Given the description of an element on the screen output the (x, y) to click on. 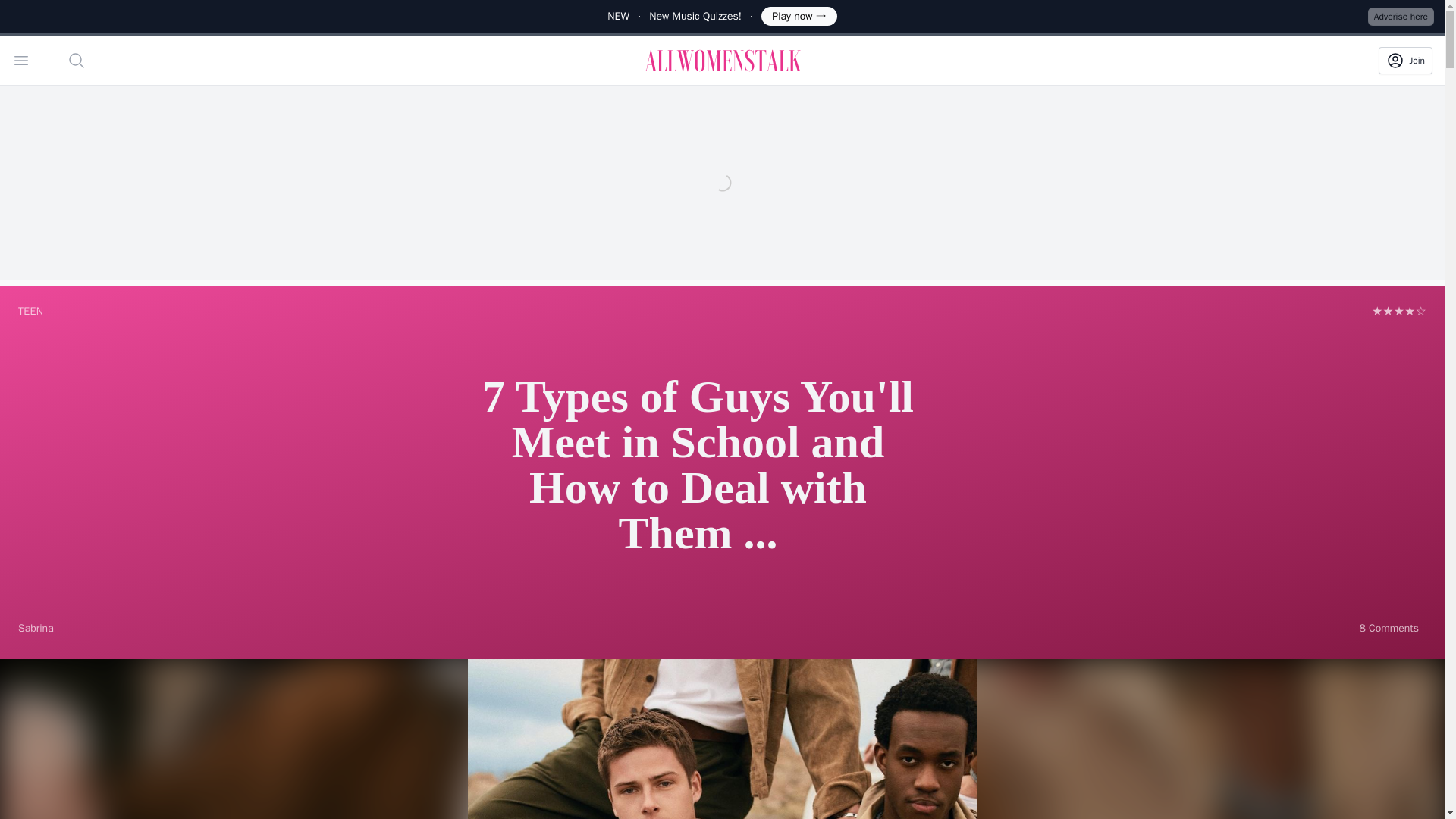
Adverise here (1401, 16)
